Given the description of an element on the screen output the (x, y) to click on. 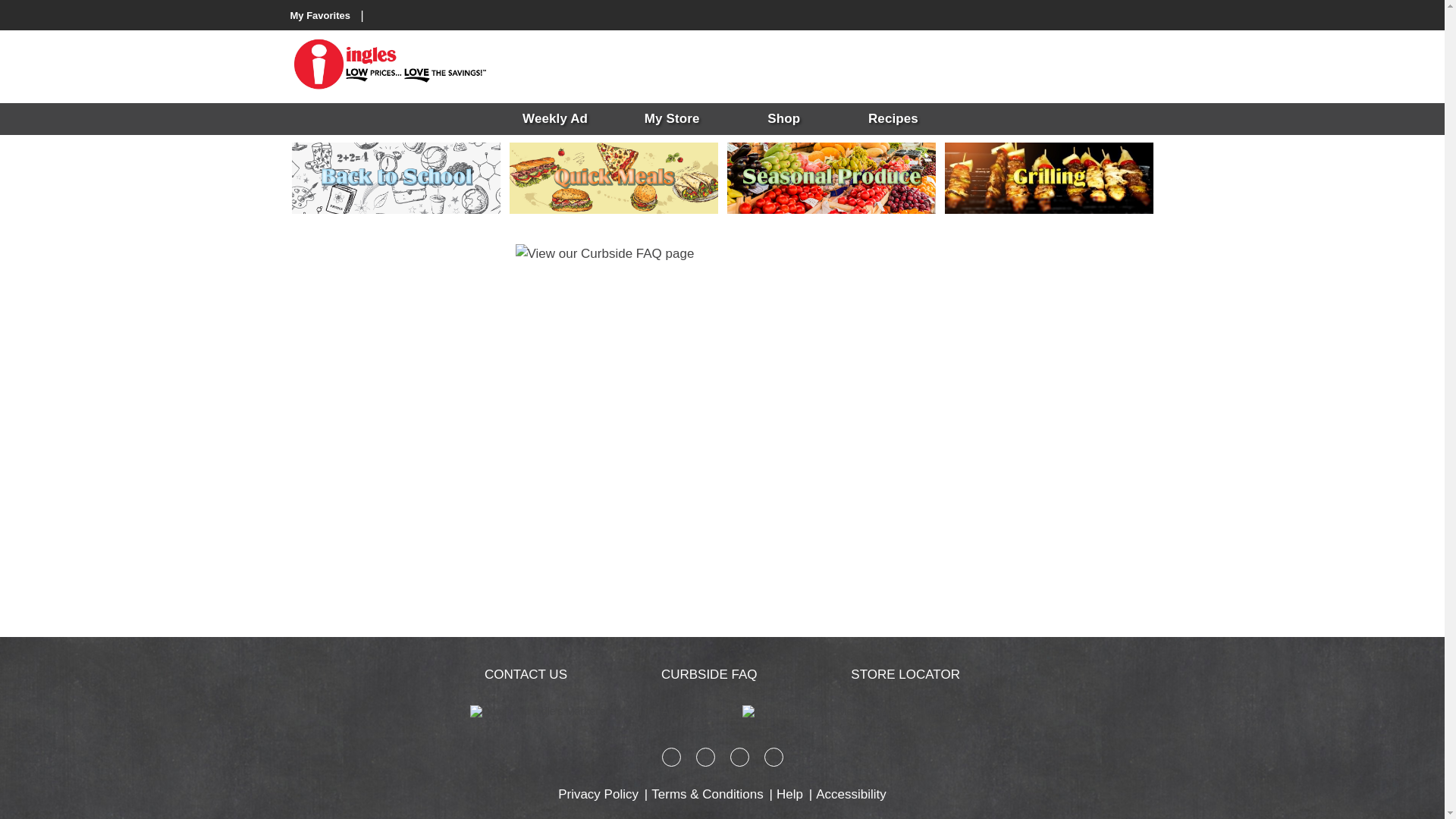
CONTACT US (525, 674)
Recipes (898, 119)
Help (789, 794)
twitter (738, 762)
Weekly Ad (554, 119)
facebook (670, 762)
Grilling (1048, 177)
Seasonal Produce (830, 177)
Back to School (395, 177)
youtube (773, 762)
